Given the description of an element on the screen output the (x, y) to click on. 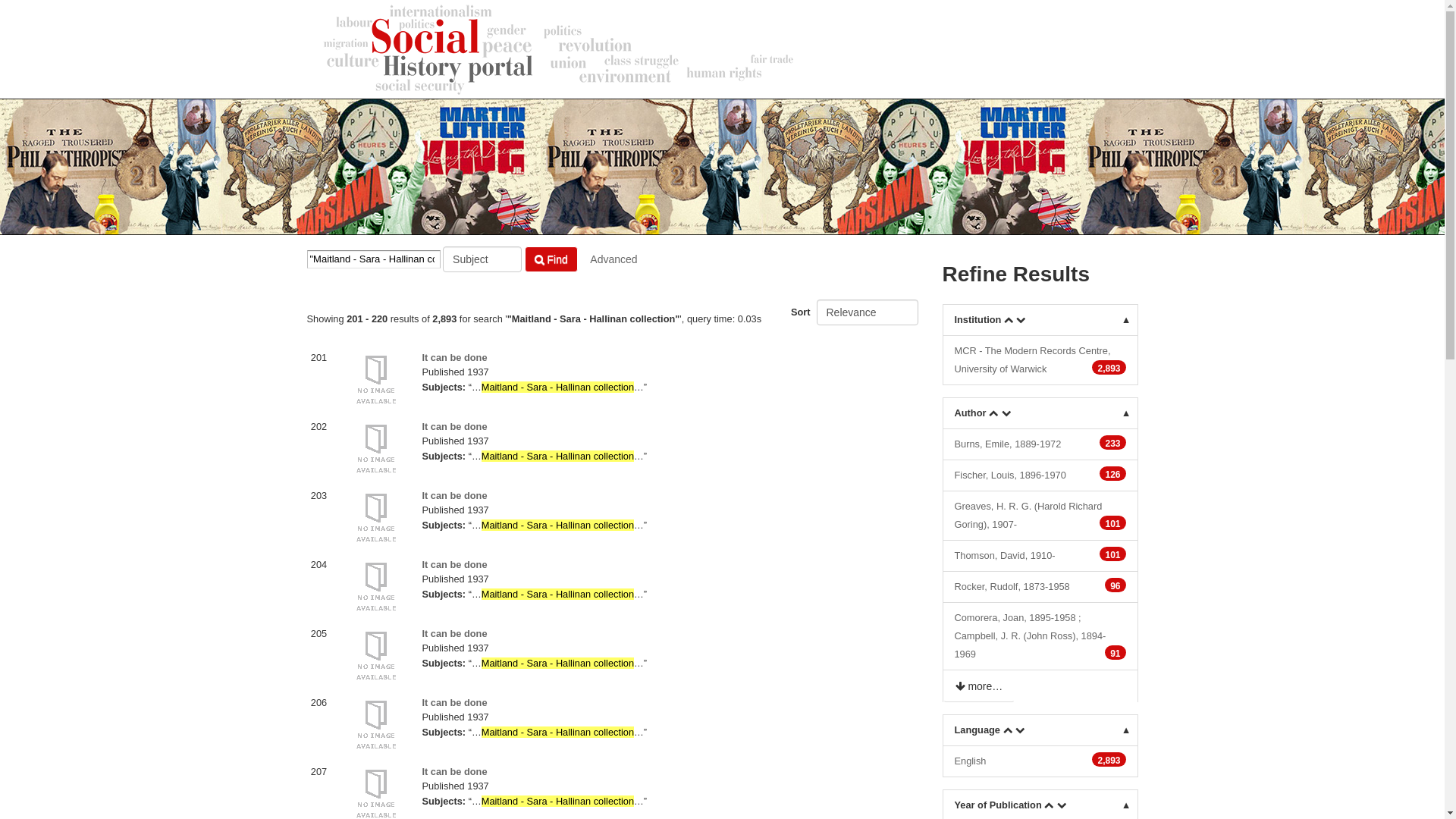
It can be done Element type: text (453, 771)
It can be done Element type: text (453, 495)
English
2,893 results
2,893 Element type: text (1040, 761)
Author Element type: text (1039, 413)
It can be done Element type: text (453, 357)
Burns, Emile, 1889-1972
233 results
233 Element type: text (1040, 444)
It can be done Element type: text (453, 564)
Language Element type: text (1039, 730)
It can be done Element type: text (453, 426)
Thomson, David, 1910-
101 results
101 Element type: text (1040, 555)
Skip to content Element type: text (32, 7)
Fischer, Louis, 1896-1970
126 results
126 Element type: text (1040, 475)
It can be done Element type: text (453, 633)
Institution Element type: text (1039, 319)
Rocker, Rudolf, 1873-1958
96 results
96 Element type: text (1040, 586)
Find Element type: text (550, 259)
Advanced Element type: text (613, 259)
Back Element type: text (951, 254)
It can be done Element type: text (453, 702)
